Given the description of an element on the screen output the (x, y) to click on. 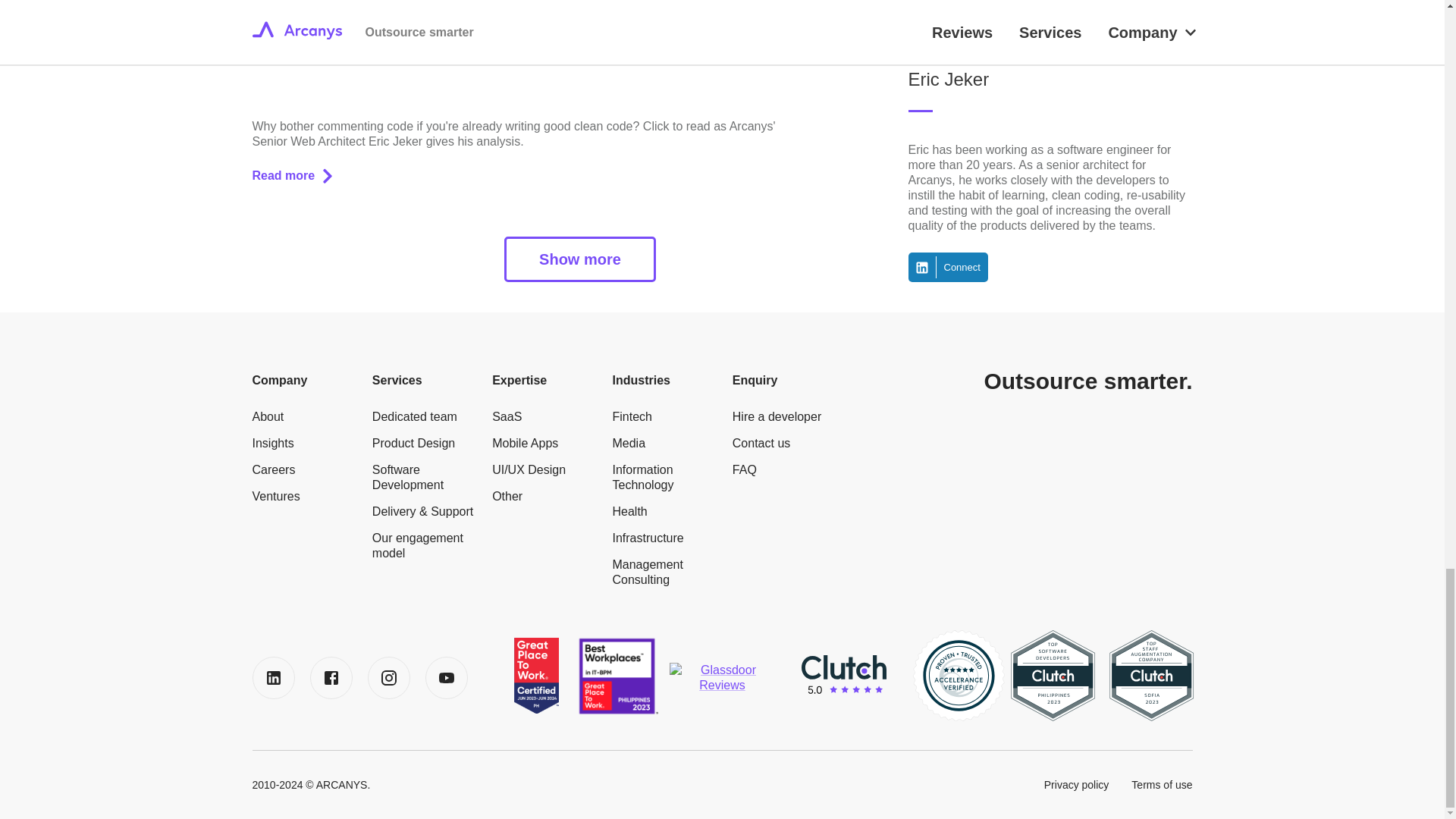
Media (628, 443)
Information Technology (663, 477)
Show more (579, 258)
SaaS (506, 417)
Product Design (413, 443)
Our engagement model (424, 545)
Health (628, 511)
Read more (290, 175)
About (267, 417)
Insights (272, 443)
Other (507, 496)
Management Consulting (663, 572)
Infrastructure (646, 538)
Software Development (424, 477)
Fintech (630, 417)
